Given the description of an element on the screen output the (x, y) to click on. 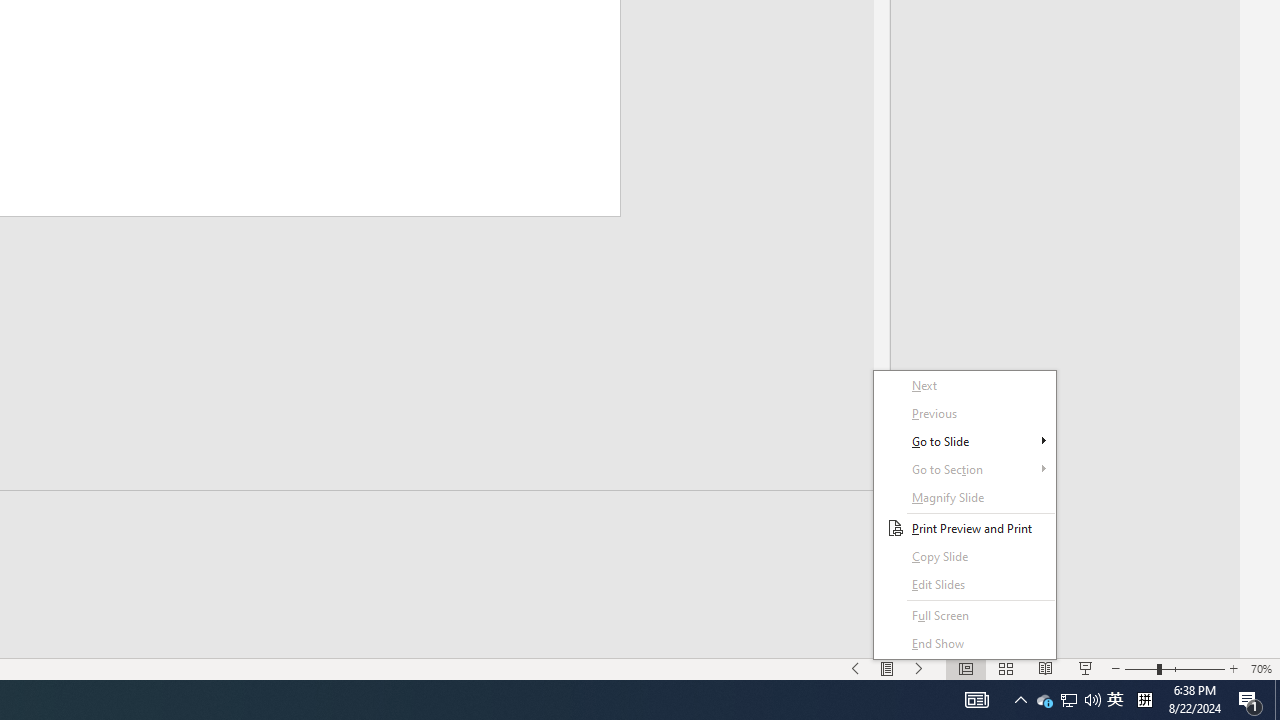
Full Screen (964, 615)
Zoom 70% (1261, 668)
Edit Slides (964, 584)
Magnify Slide (964, 497)
Go to Section (964, 469)
Slide Show Previous On (855, 668)
Go to Slide (964, 441)
Action Center, 1 new notification (1250, 699)
Print Preview and Print (964, 528)
